Given the description of an element on the screen output the (x, y) to click on. 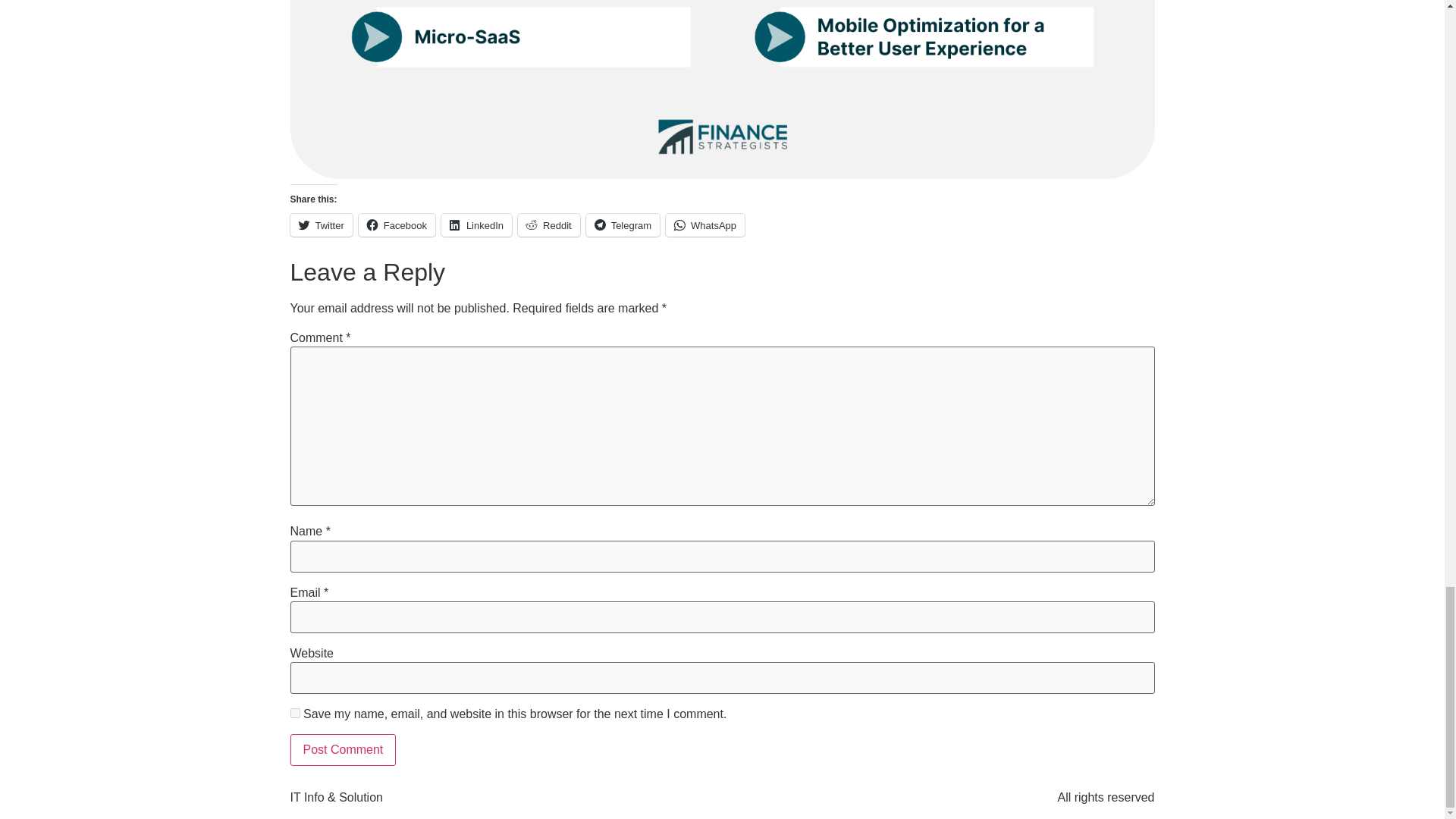
LinkedIn (476, 224)
Post Comment (342, 749)
Reddit (548, 224)
Click to share on Reddit (548, 224)
Click to share on Facebook (396, 224)
Click to share on Twitter (320, 224)
Facebook (396, 224)
Twitter (320, 224)
Post Comment (342, 749)
WhatsApp (704, 224)
